Given the description of an element on the screen output the (x, y) to click on. 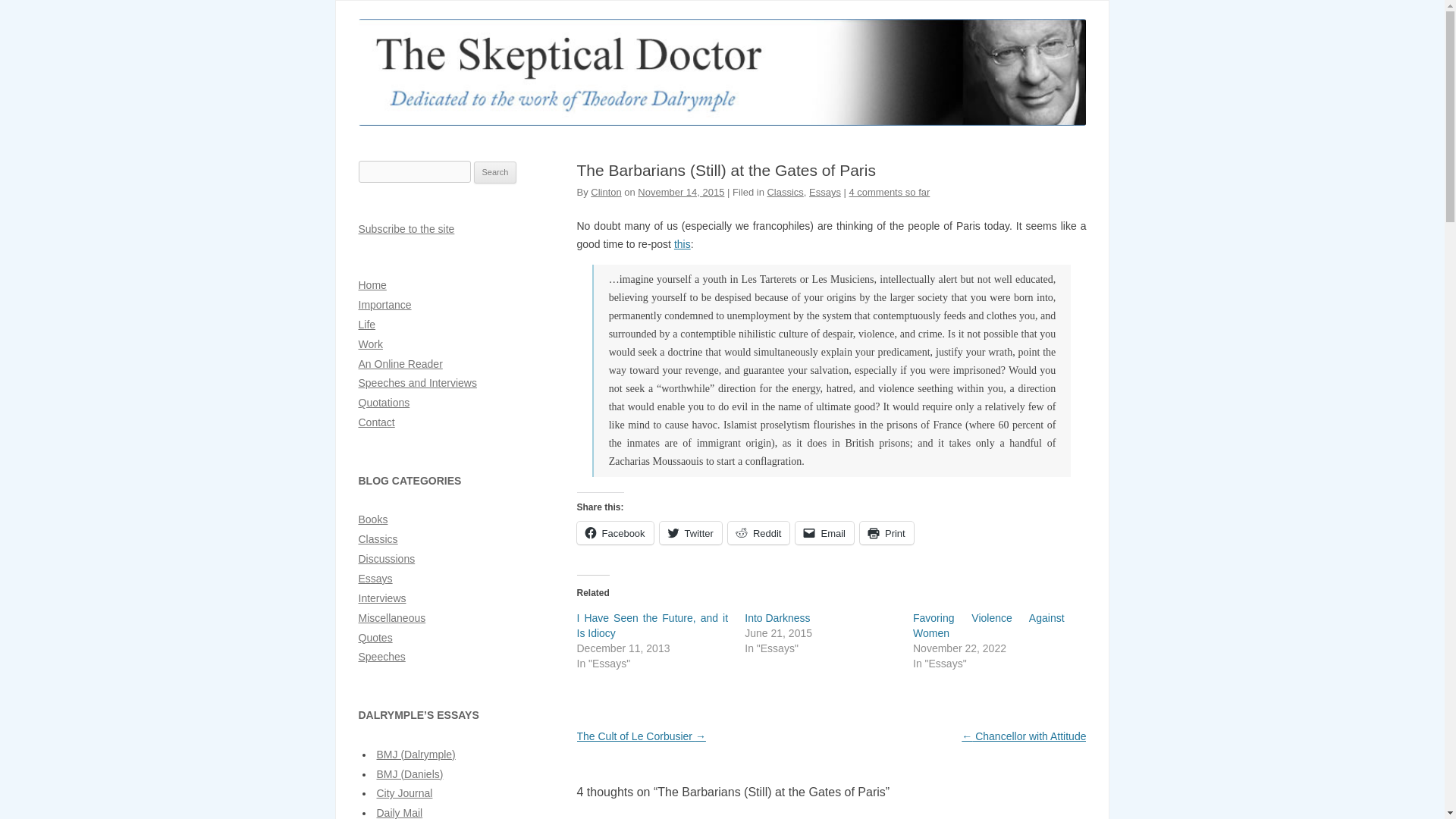
View all posts by Clinton (606, 192)
Click to share on Reddit (759, 532)
Clinton (606, 192)
9:06 am (680, 192)
Click to email a link to a friend (823, 532)
Click to share on Facebook (614, 532)
Click to print (887, 532)
I Have Seen the Future, and it Is Idiocy (652, 625)
Click to share on Twitter (690, 532)
Favoring Violence Against Women (988, 625)
Search (495, 172)
Into Darkness (776, 617)
The Skeptical Doctor (722, 121)
